Given the description of an element on the screen output the (x, y) to click on. 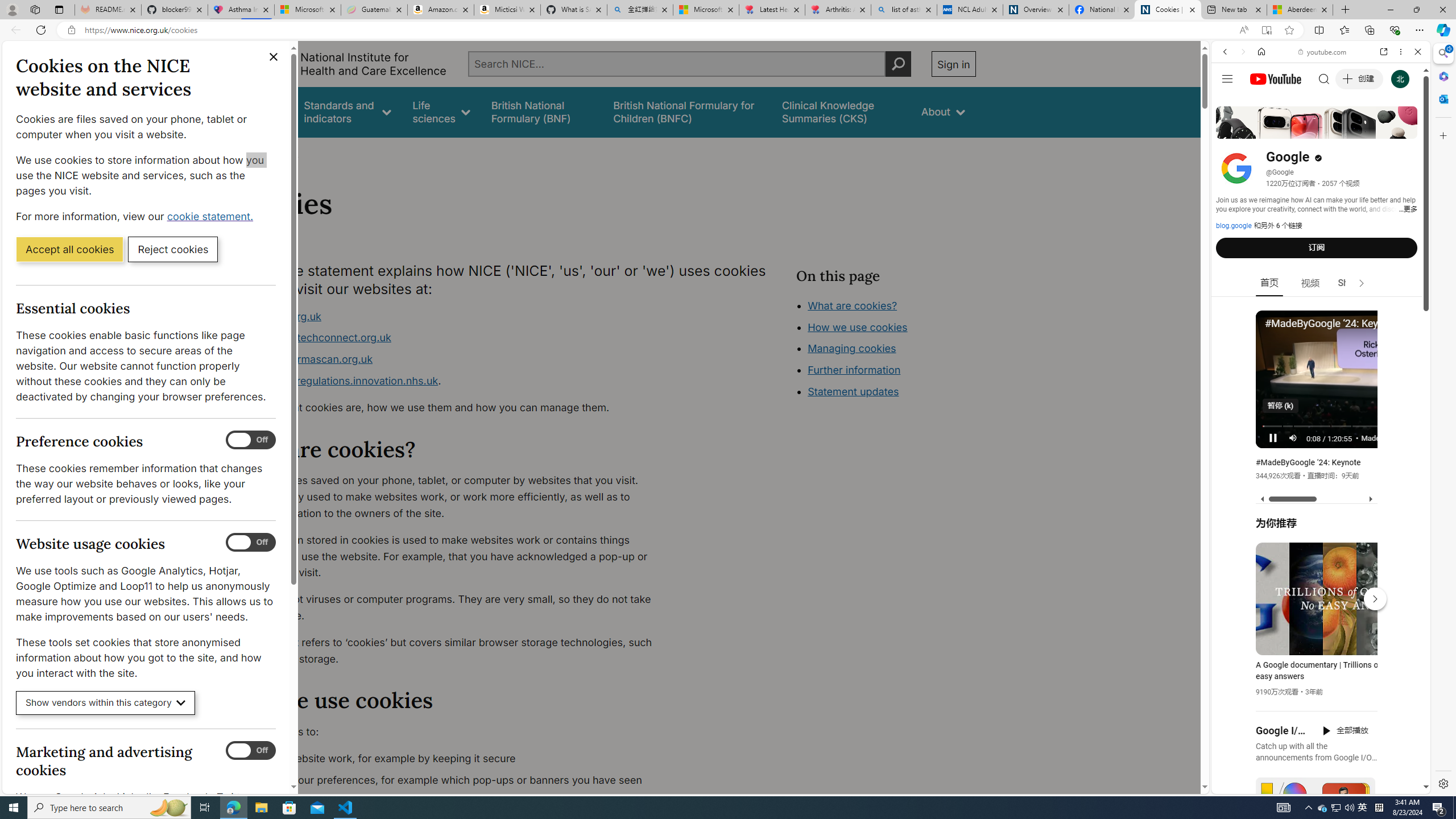
AutomationID: right (1361, 283)
